Given the description of an element on the screen output the (x, y) to click on. 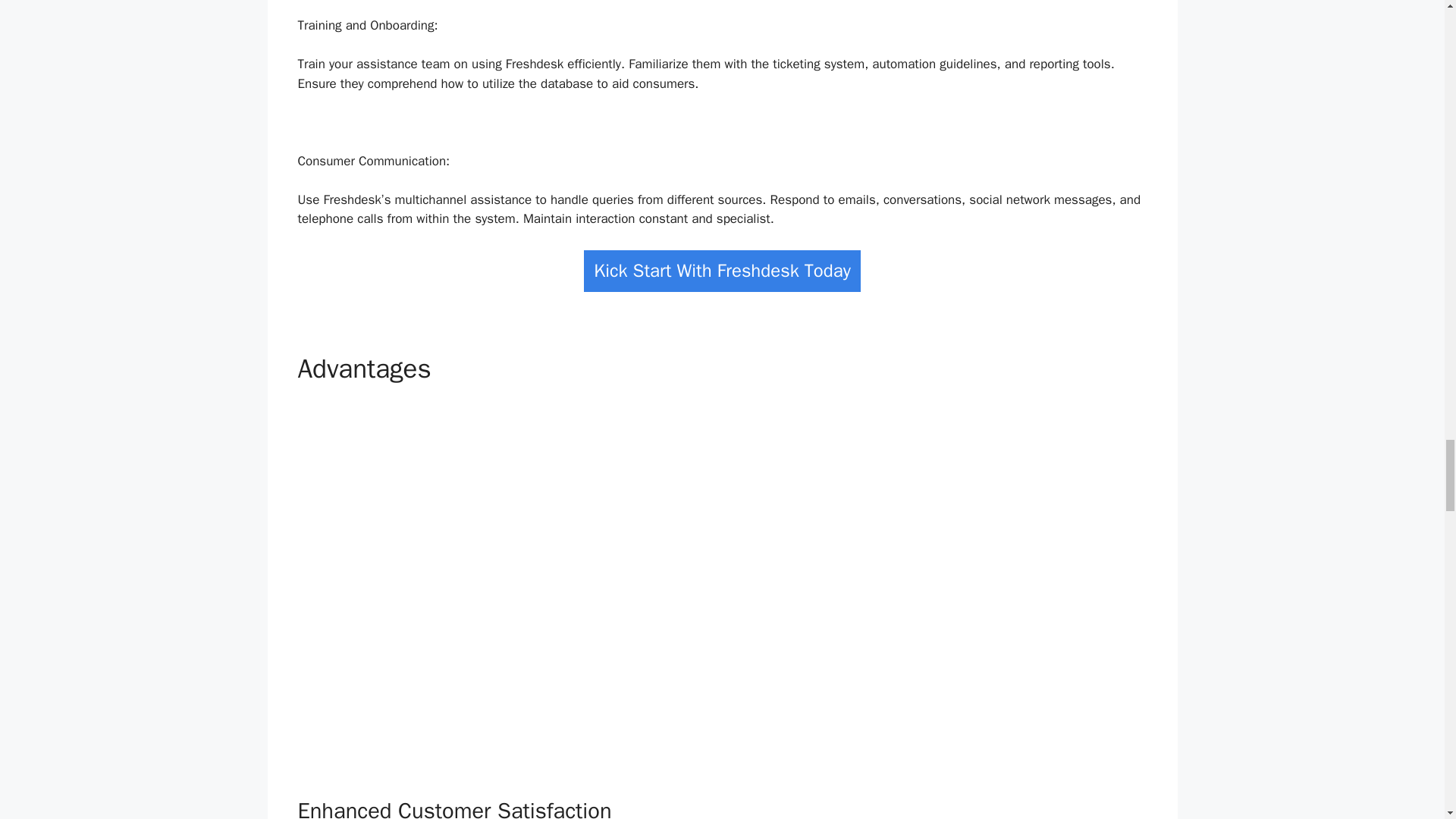
Kick Start With Freshdesk Today (721, 270)
